Given the description of an element on the screen output the (x, y) to click on. 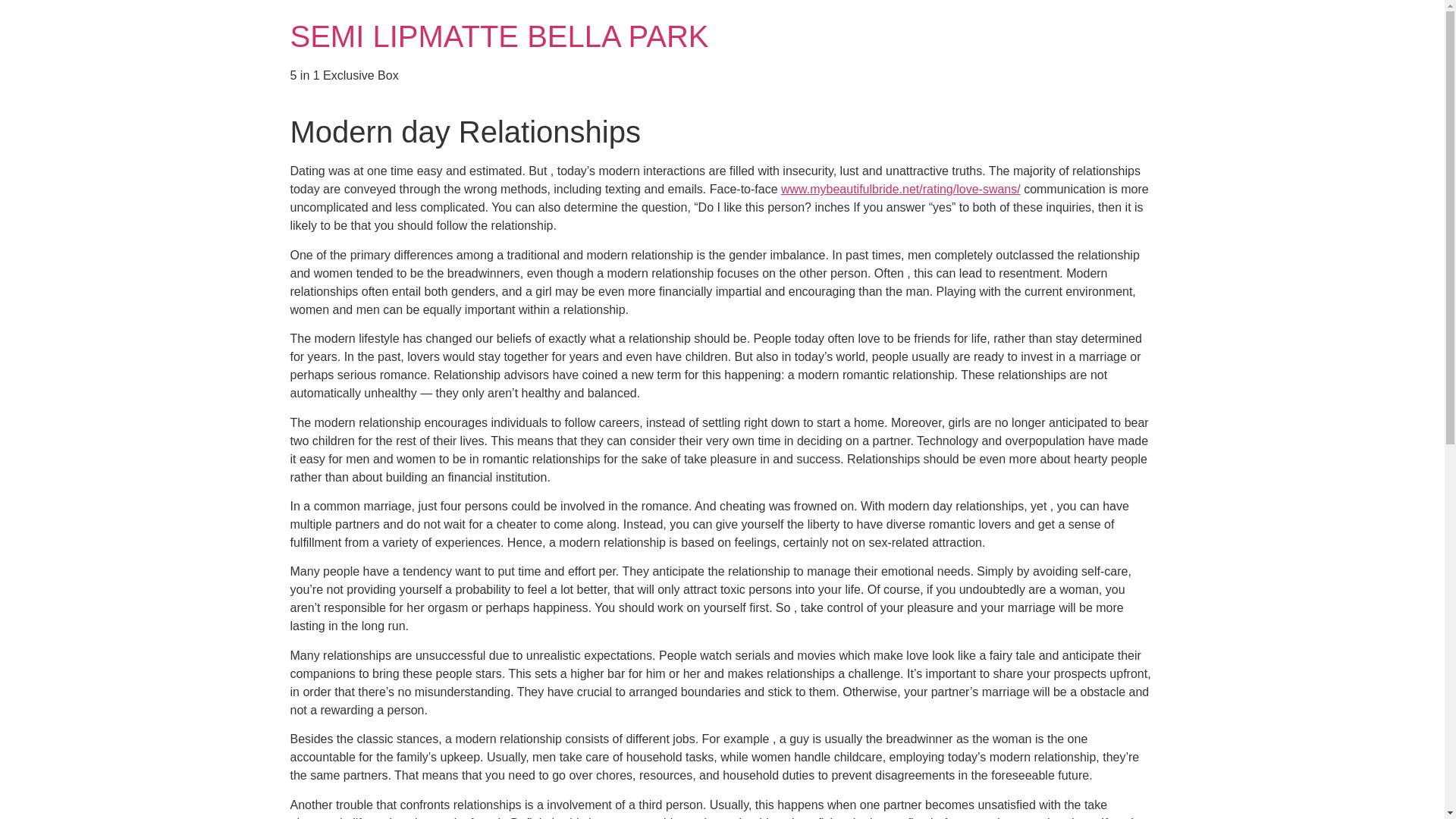
Home (498, 36)
SEMI LIPMATTE BELLA PARK (498, 36)
